Given the description of an element on the screen output the (x, y) to click on. 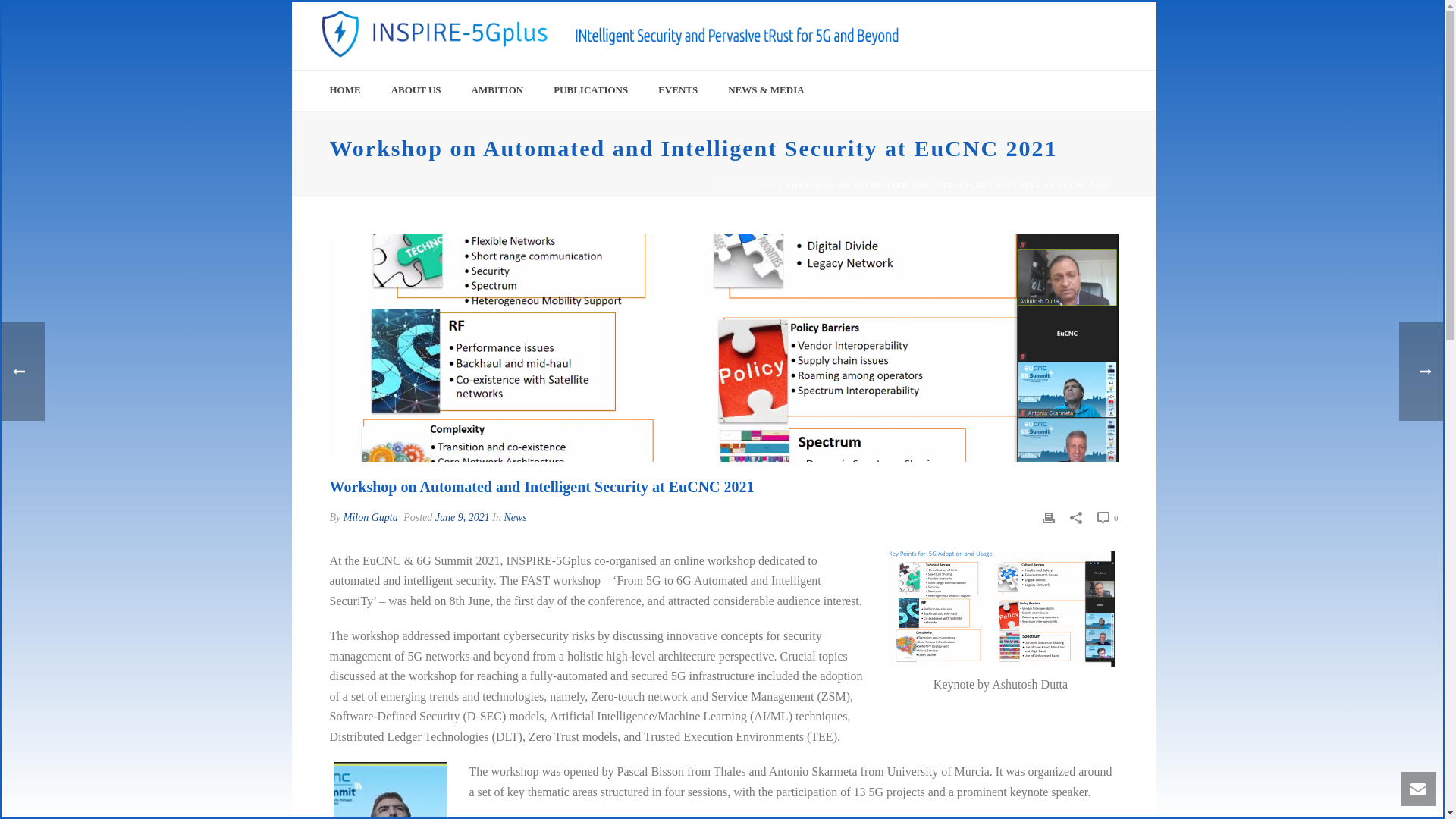
INSPIRE-5Gplus (686, 35)
HOME (344, 90)
AMBITION (497, 90)
ABOUT US (416, 90)
PUBLICATIONS (590, 90)
EVENTS (678, 90)
HOME (344, 90)
Posts by Milon Gupta (370, 517)
EVENTS (678, 90)
AMBITION (497, 90)
PUBLICATIONS (590, 90)
ABOUT US (416, 90)
Print (1048, 516)
